Given the description of an element on the screen output the (x, y) to click on. 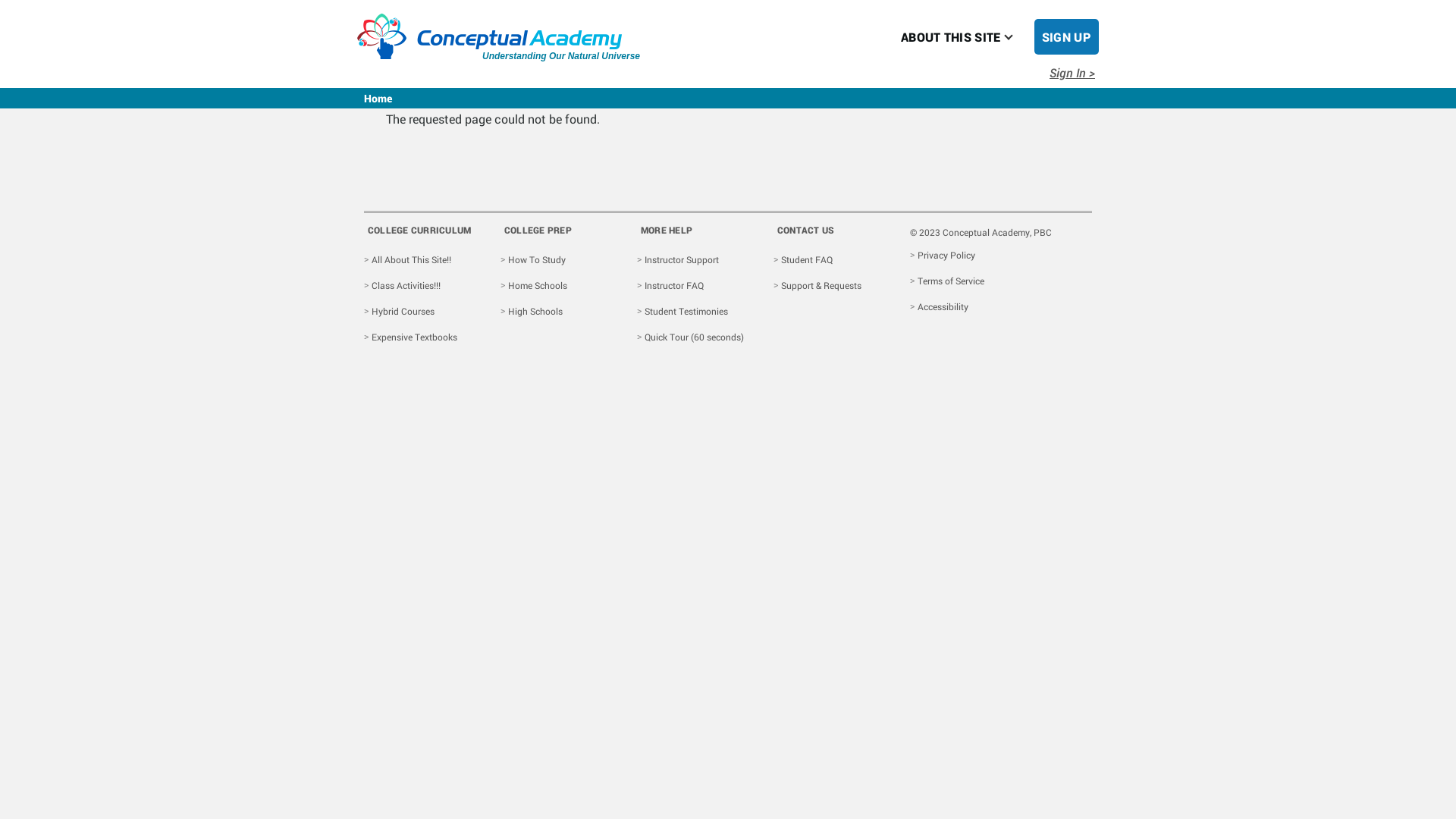
Home Element type: text (378, 98)
Home Schools Element type: text (537, 285)
Instructor Support Element type: text (681, 259)
ABOUT THIS SITE Element type: text (950, 36)
Skip to main content Element type: text (595, 6)
SIGN UP Element type: text (1066, 36)
Sign In > Element type: text (1072, 72)
Class Activities!!! Element type: text (405, 285)
High Schools Element type: text (535, 310)
Expensive Textbooks Element type: text (414, 336)
Student FAQ Element type: text (806, 259)
Privacy Policy Element type: text (946, 254)
Instructor FAQ Element type: text (673, 285)
Student Testimonies Element type: text (686, 310)
All About This Site!! Element type: text (411, 259)
Terms of Service Element type: text (950, 280)
Accessibility Element type: text (942, 306)
Quick Tour (60 seconds) Element type: text (693, 336)
Hybrid Courses Element type: text (402, 310)
How To Study Element type: text (536, 259)
Support & Requests Element type: text (821, 285)
Understanding Our Natural Universe Element type: text (489, 46)
